Given the description of an element on the screen output the (x, y) to click on. 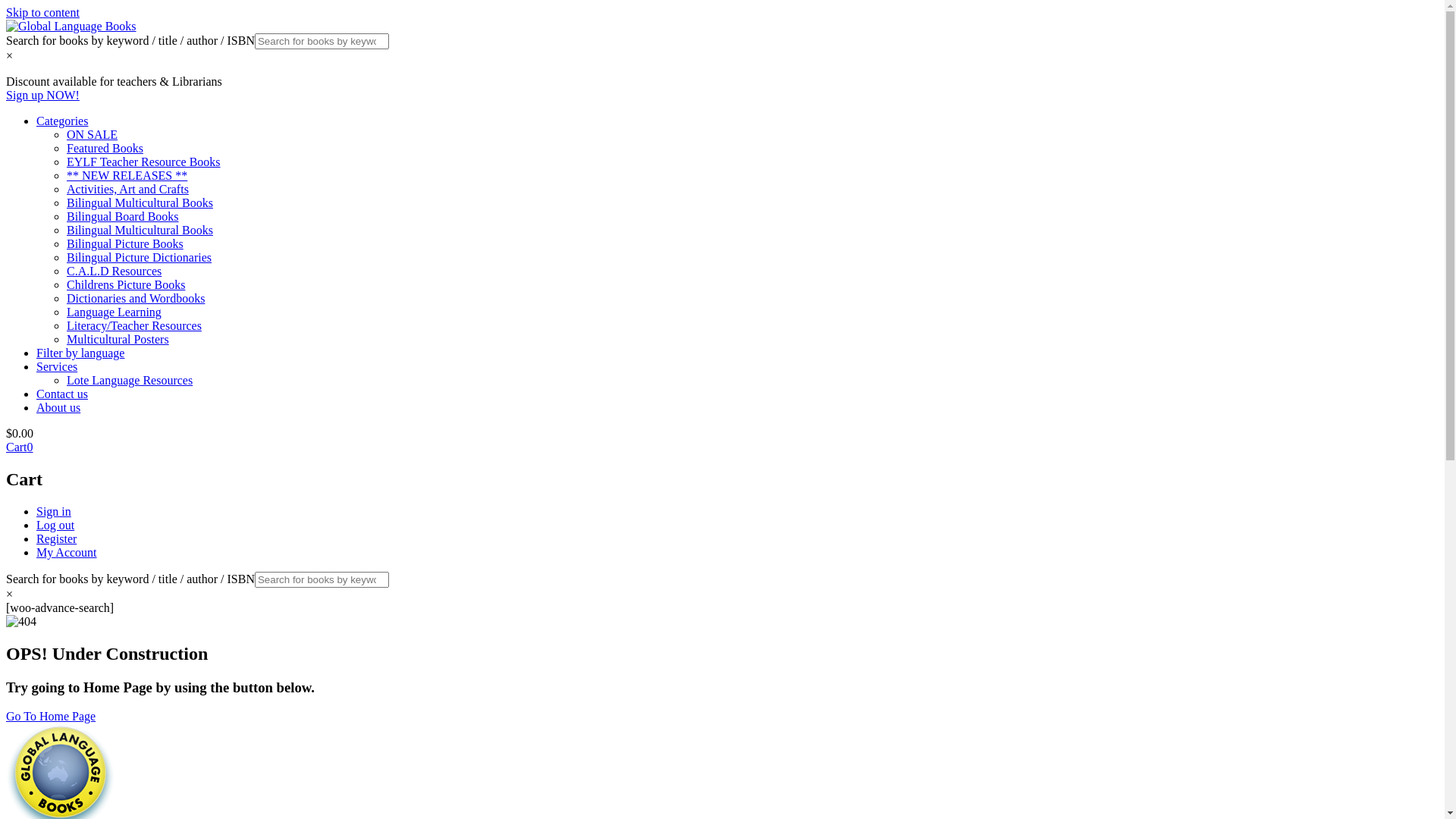
Bilingual Picture Books Element type: text (124, 243)
EYLF Teacher Resource Books Element type: text (143, 161)
** NEW RELEASES ** Element type: text (126, 175)
Featured Books Element type: text (104, 147)
Literacy/Teacher Resources Element type: text (133, 325)
Bilingual Multicultural Books Element type: text (139, 229)
Log out Element type: text (55, 524)
Multicultural Posters Element type: text (117, 338)
Dictionaries and Wordbooks Element type: text (135, 297)
Register Element type: text (56, 538)
Filter by language Element type: text (80, 352)
Language Learning Element type: text (113, 311)
About us Element type: text (58, 407)
Cart0 Element type: text (19, 446)
Sign in Element type: text (53, 511)
Lote Language Resources Element type: text (129, 379)
ON SALE Element type: text (91, 134)
Childrens Picture Books Element type: text (125, 284)
Go To Home Page Element type: text (50, 715)
Bilingual Picture Dictionaries Element type: text (138, 257)
My Account Element type: text (66, 552)
Categories Element type: text (61, 120)
Sign up NOW! Element type: text (42, 94)
C.A.L.D Resources Element type: text (113, 270)
Bilingual Board Books Element type: text (122, 216)
Services Element type: text (56, 366)
Activities, Art and Crafts Element type: text (127, 188)
Skip to content Element type: text (42, 12)
Contact us Element type: text (61, 393)
Bilingual Multicultural Books Element type: text (139, 202)
